Given the description of an element on the screen output the (x, y) to click on. 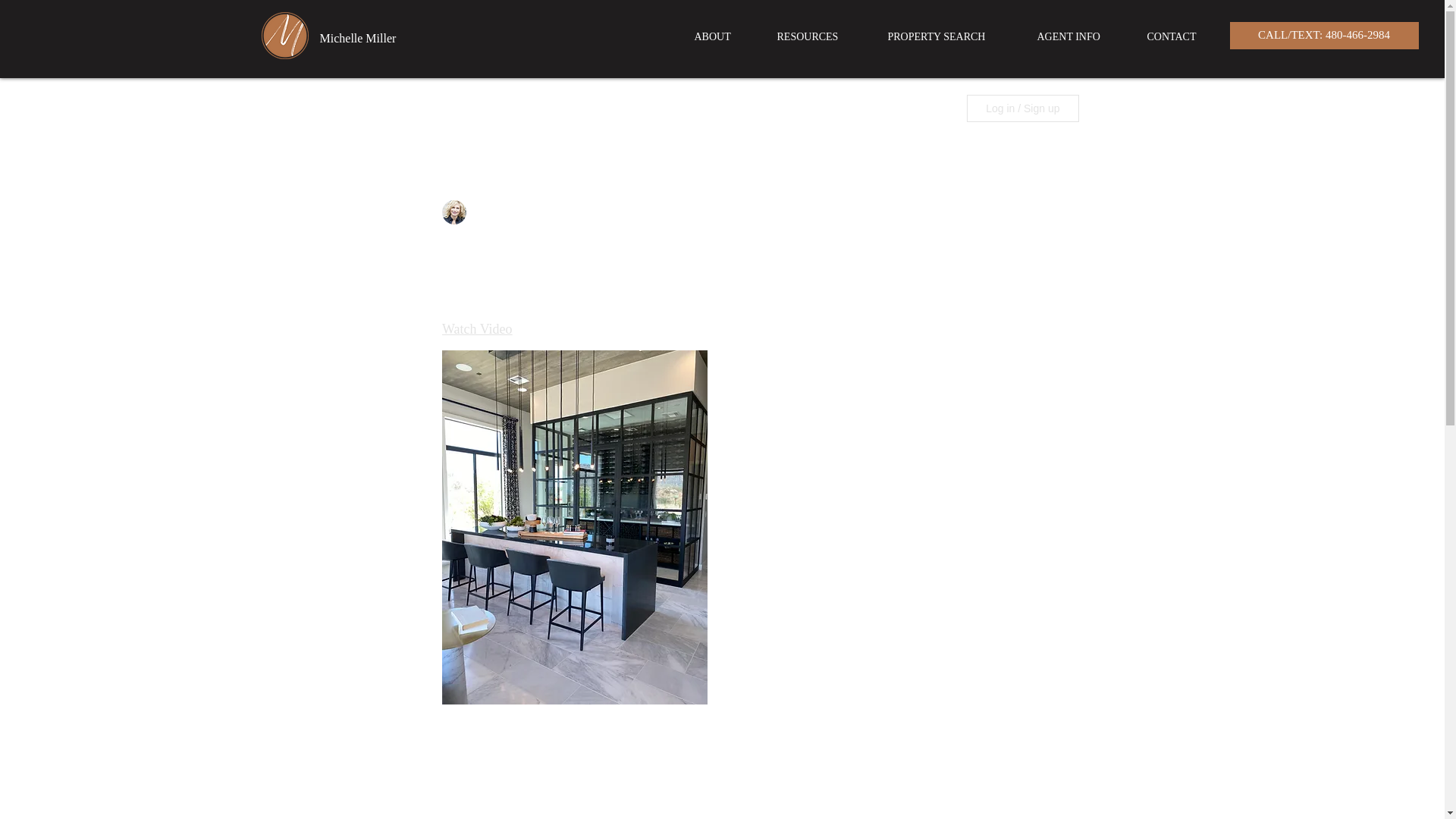
Michelle Miller (503, 212)
PROPERTY SEARCH (951, 36)
Sep 23, 2020 (518, 297)
Listings (453, 108)
Sep 10, 2020 (601, 212)
Michelle Miller (358, 38)
CONTACT (1182, 36)
Watch Video (476, 328)
AGENT INFO (1080, 36)
ABOUT (723, 36)
2 min read (671, 212)
All Posts (385, 108)
